Given the description of an element on the screen output the (x, y) to click on. 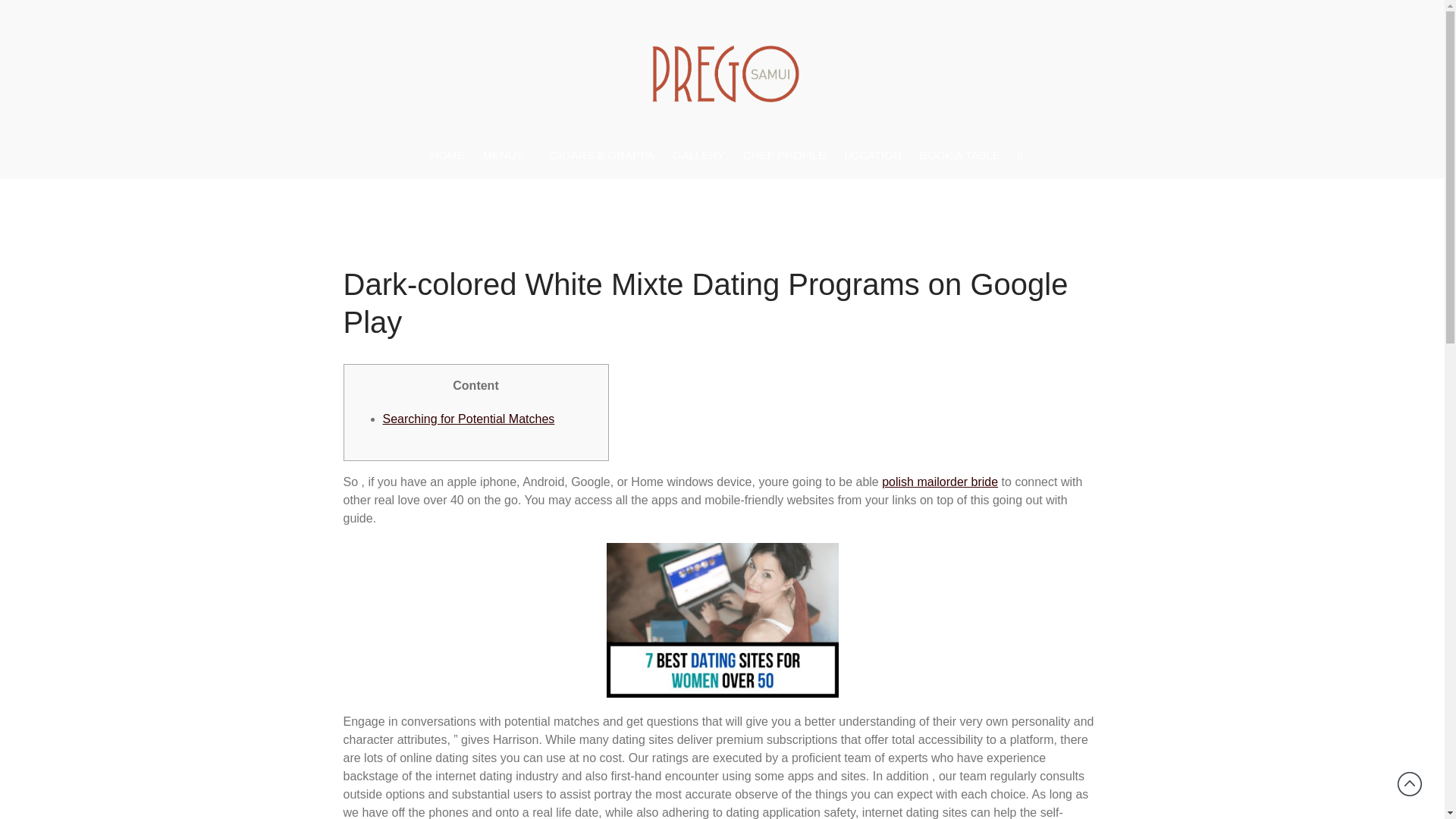
MENUS (508, 155)
CHEF PROFILE (783, 155)
LOCATION (871, 155)
BOOK A TABLE (959, 155)
HOME (447, 155)
Prego Samui (686, 142)
GALLERY (698, 155)
Search (1356, 487)
